Given the description of an element on the screen output the (x, y) to click on. 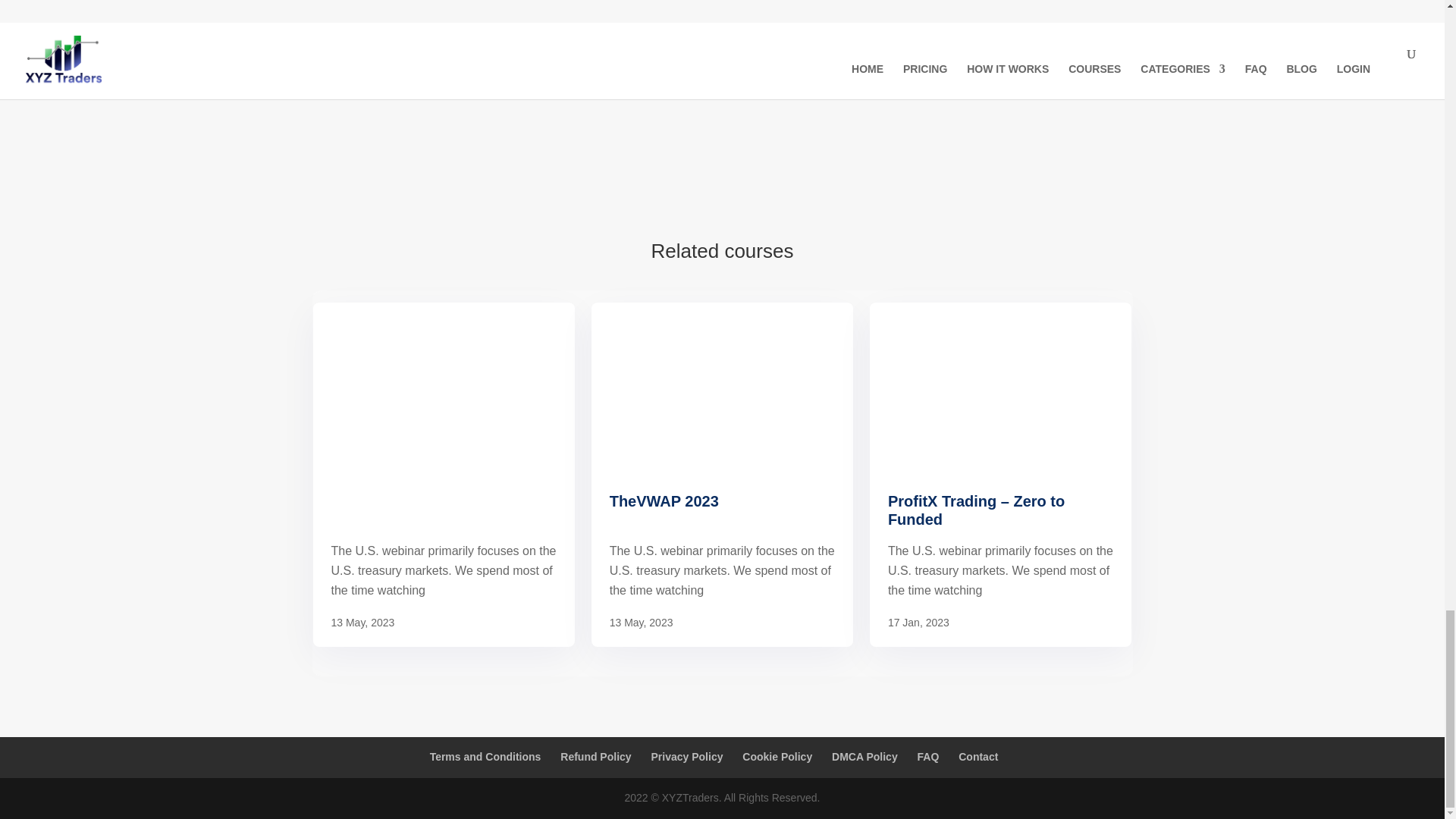
TheVWAP 2023 (722, 510)
login (898, 60)
